Given the description of an element on the screen output the (x, y) to click on. 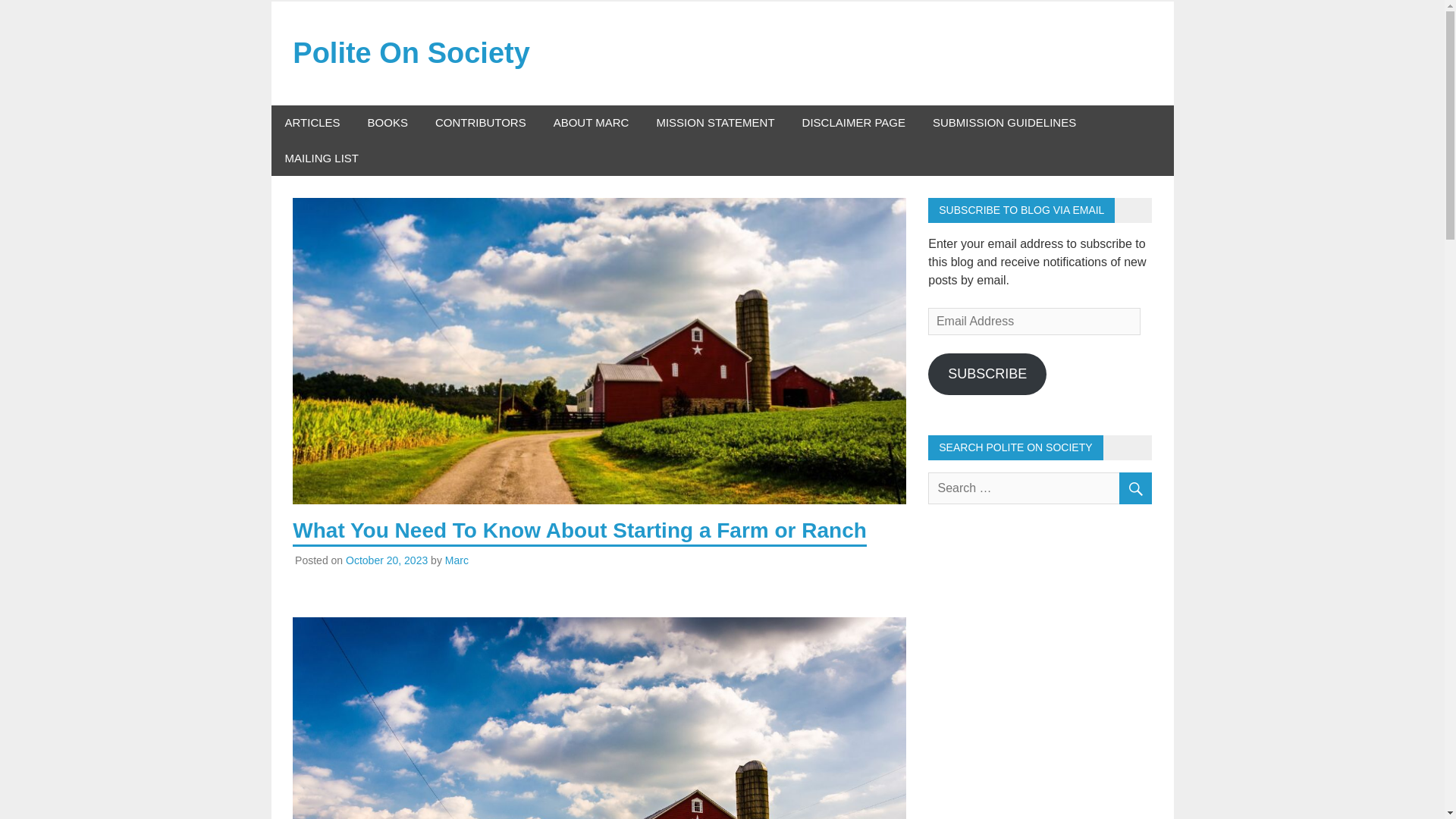
Polite On Society (410, 52)
ABOUT MARC (591, 122)
SUBMISSION GUIDELINES (1003, 122)
View all posts by Marc (456, 560)
1:24 pm (387, 560)
CONTRIBUTORS (481, 122)
MAILING LIST (321, 158)
ARTICLES (311, 122)
Marc (456, 560)
BOOKS (387, 122)
DISCLAIMER PAGE (853, 122)
October 20, 2023 (387, 560)
MISSION STATEMENT (714, 122)
